Given the description of an element on the screen output the (x, y) to click on. 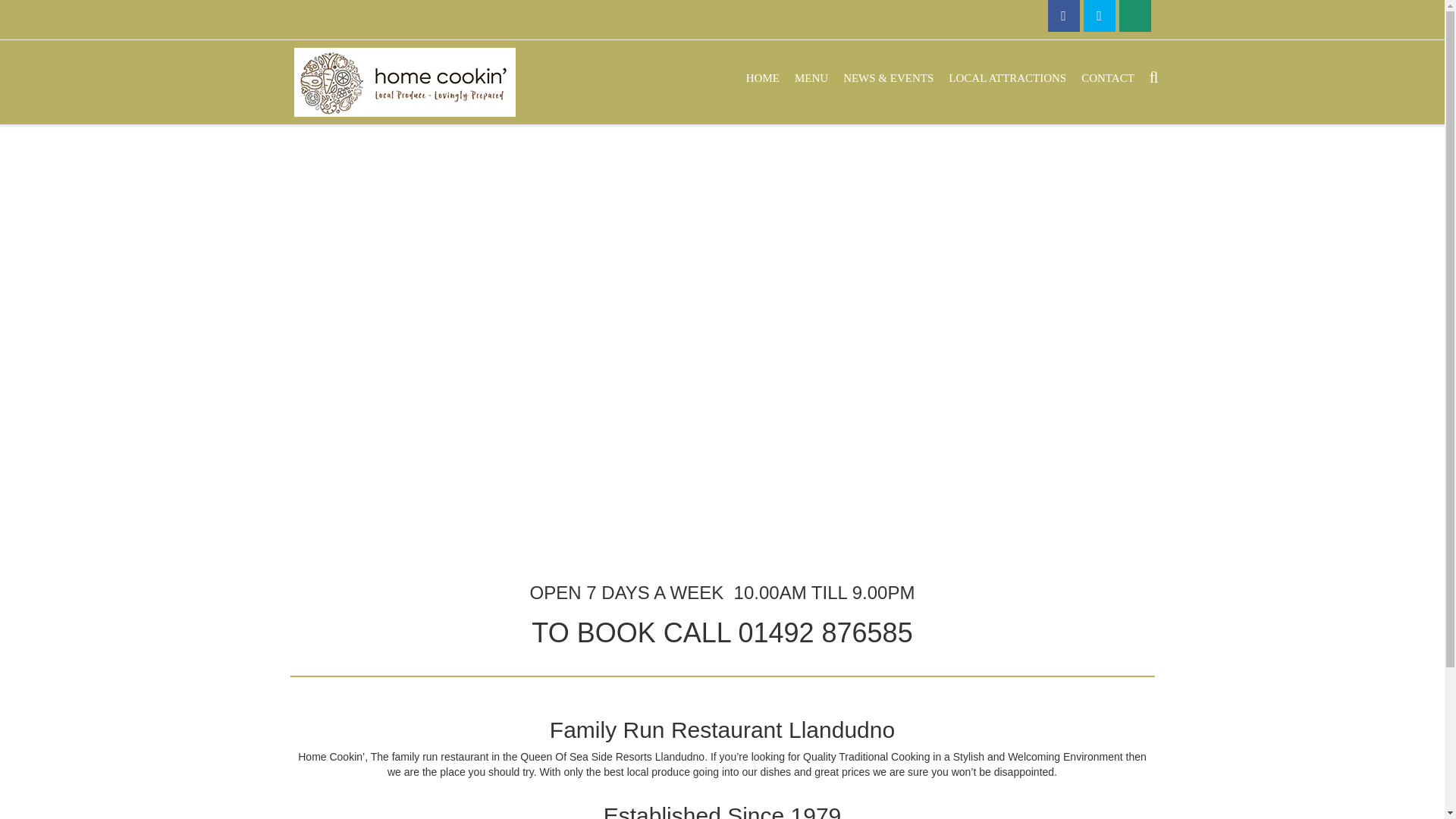
CONTACT (1107, 78)
Trip Advisor (1135, 15)
Facebook (1064, 15)
Twitter (1099, 15)
Search (20, 9)
LOCAL ATTRACTIONS (1007, 78)
